Given the description of an element on the screen output the (x, y) to click on. 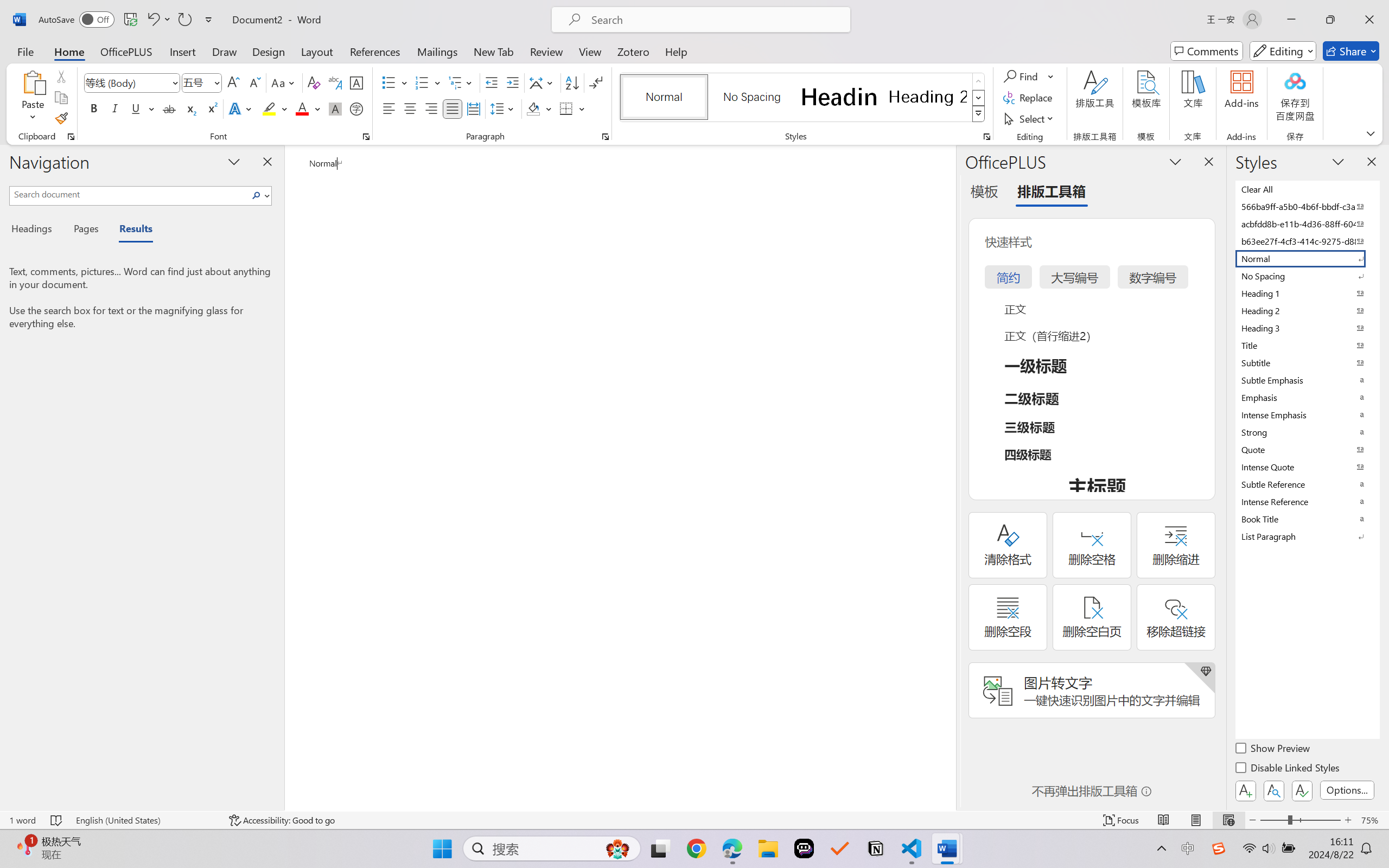
Styles (978, 113)
Search (259, 195)
Superscript (210, 108)
Cut (60, 75)
Microsoft search (715, 19)
Asian Layout (542, 82)
Normal (1306, 258)
Focus  (1121, 819)
